Given the description of an element on the screen output the (x, y) to click on. 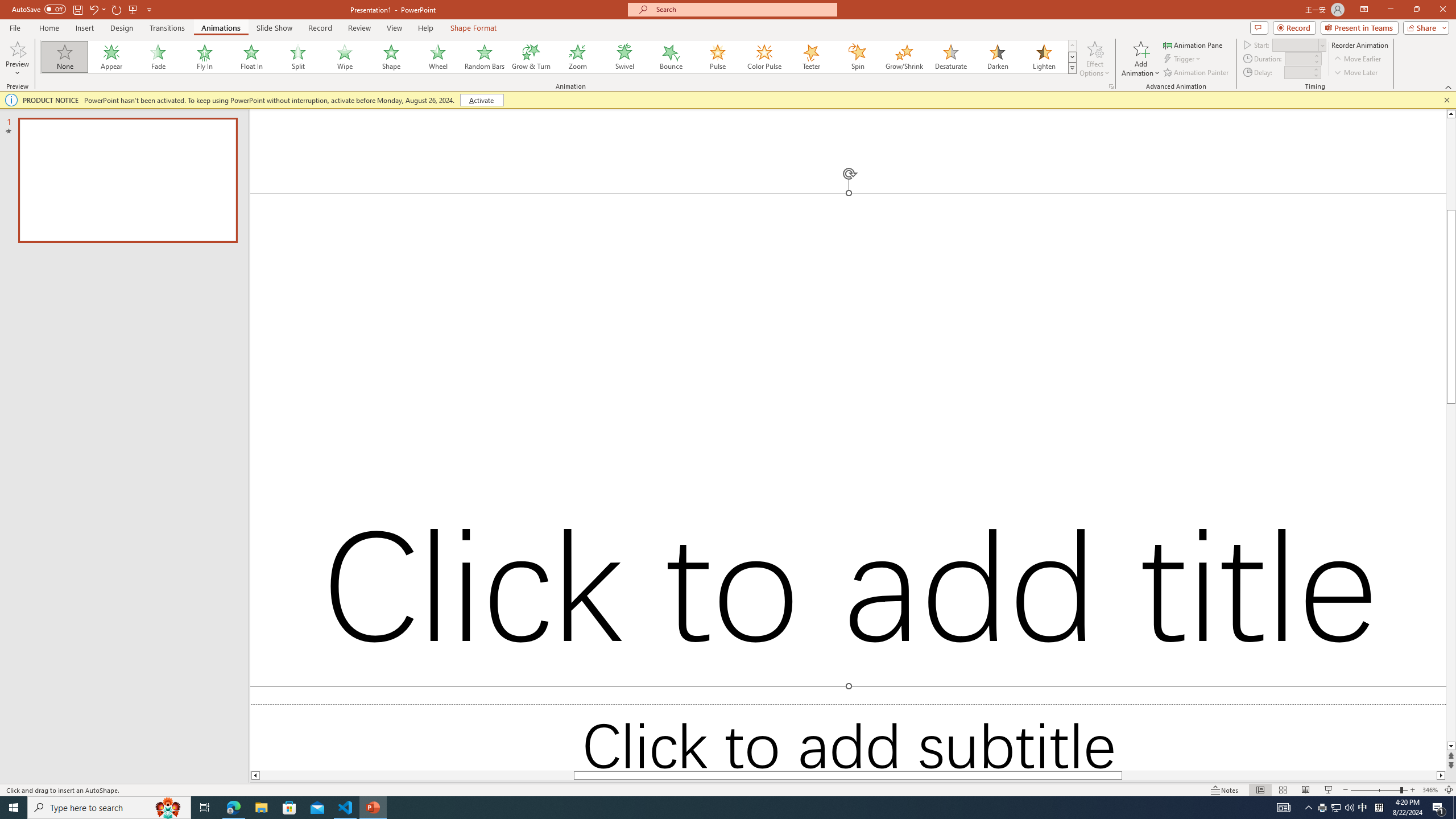
Animation Duration (1298, 58)
Fly In (205, 56)
Random Bars (484, 56)
Zoom 346% (1430, 790)
Grow & Turn (531, 56)
Teeter (810, 56)
